Given the description of an element on the screen output the (x, y) to click on. 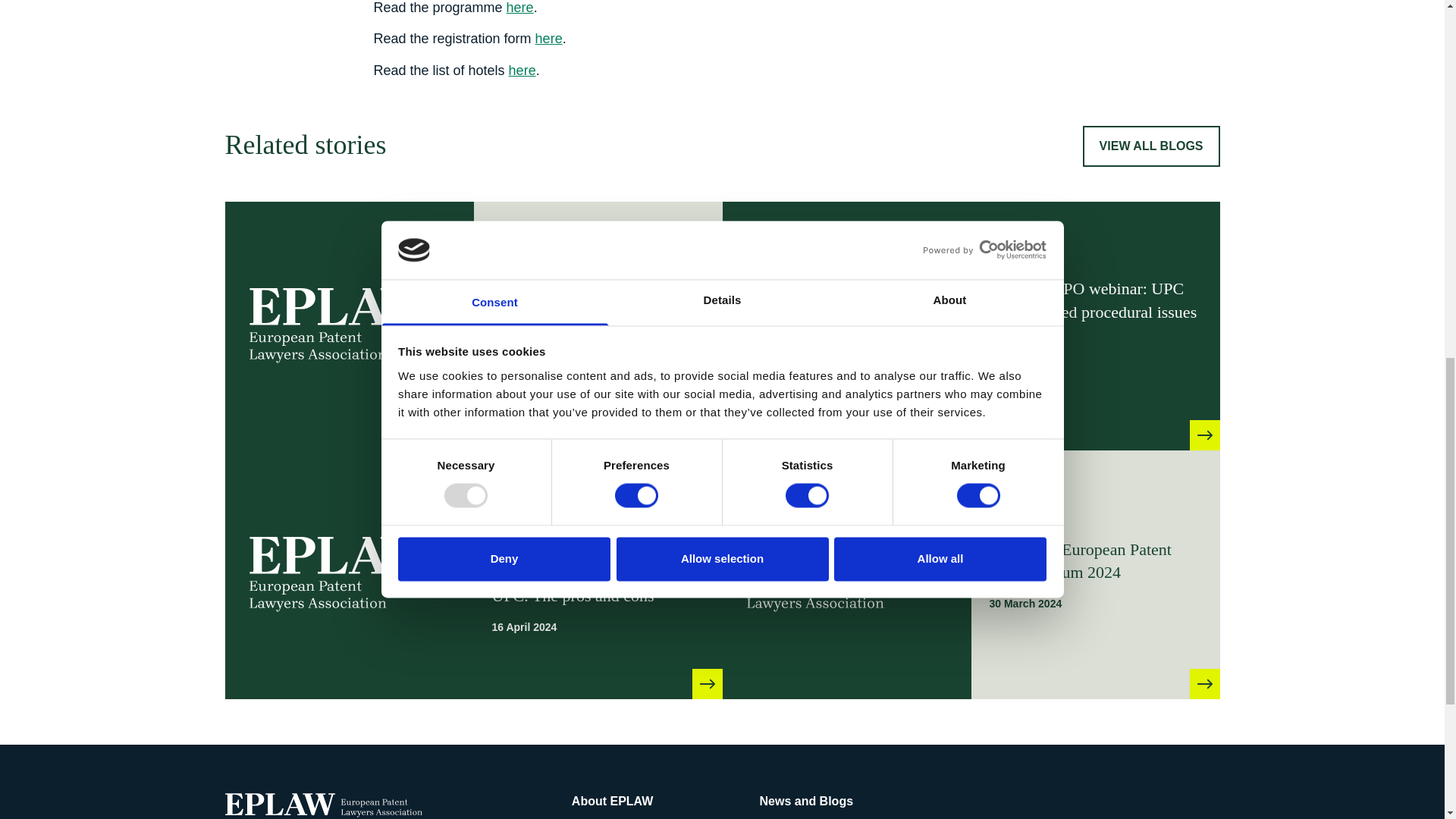
VIEW ALL BLOGS (1151, 146)
